Given the description of an element on the screen output the (x, y) to click on. 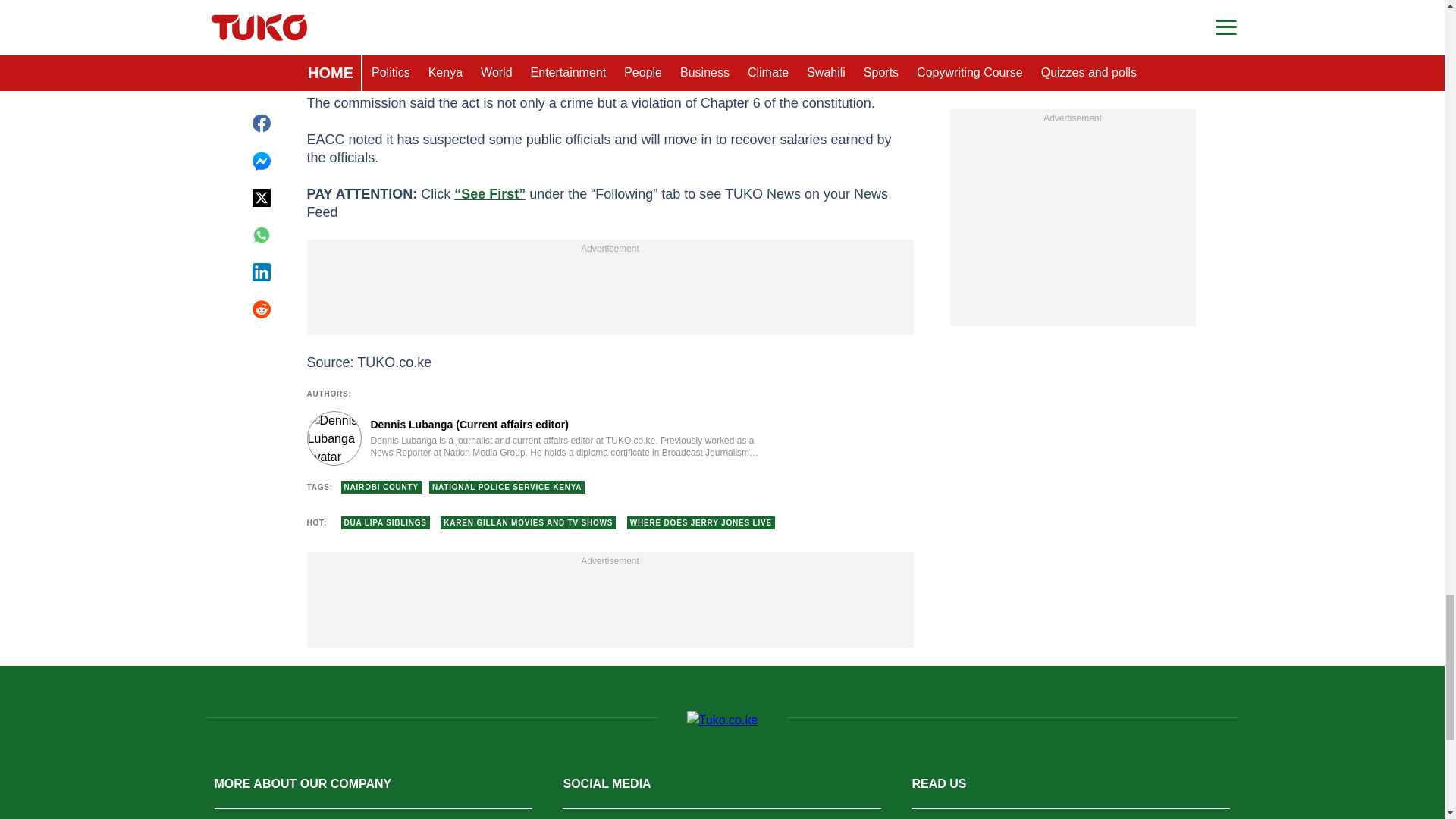
Author page (533, 438)
